Given the description of an element on the screen output the (x, y) to click on. 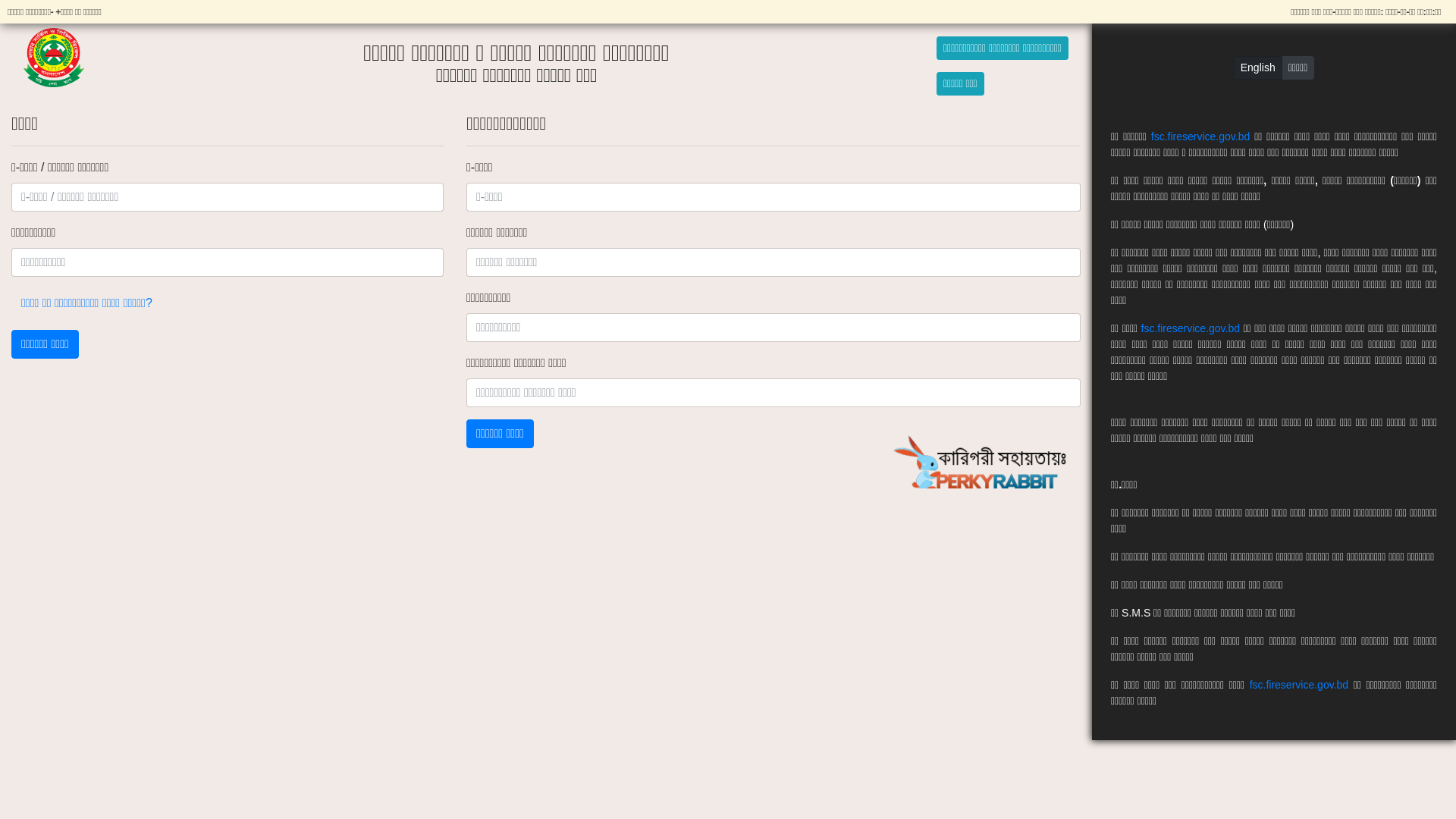
fsc.fireservice.gov.bd Element type: text (1298, 683)
fsc.fireservice.gov.bd Element type: text (1190, 327)
English Element type: text (1257, 67)
fsc.fireservice.gov.bd Element type: text (1200, 136)
